Given the description of an element on the screen output the (x, y) to click on. 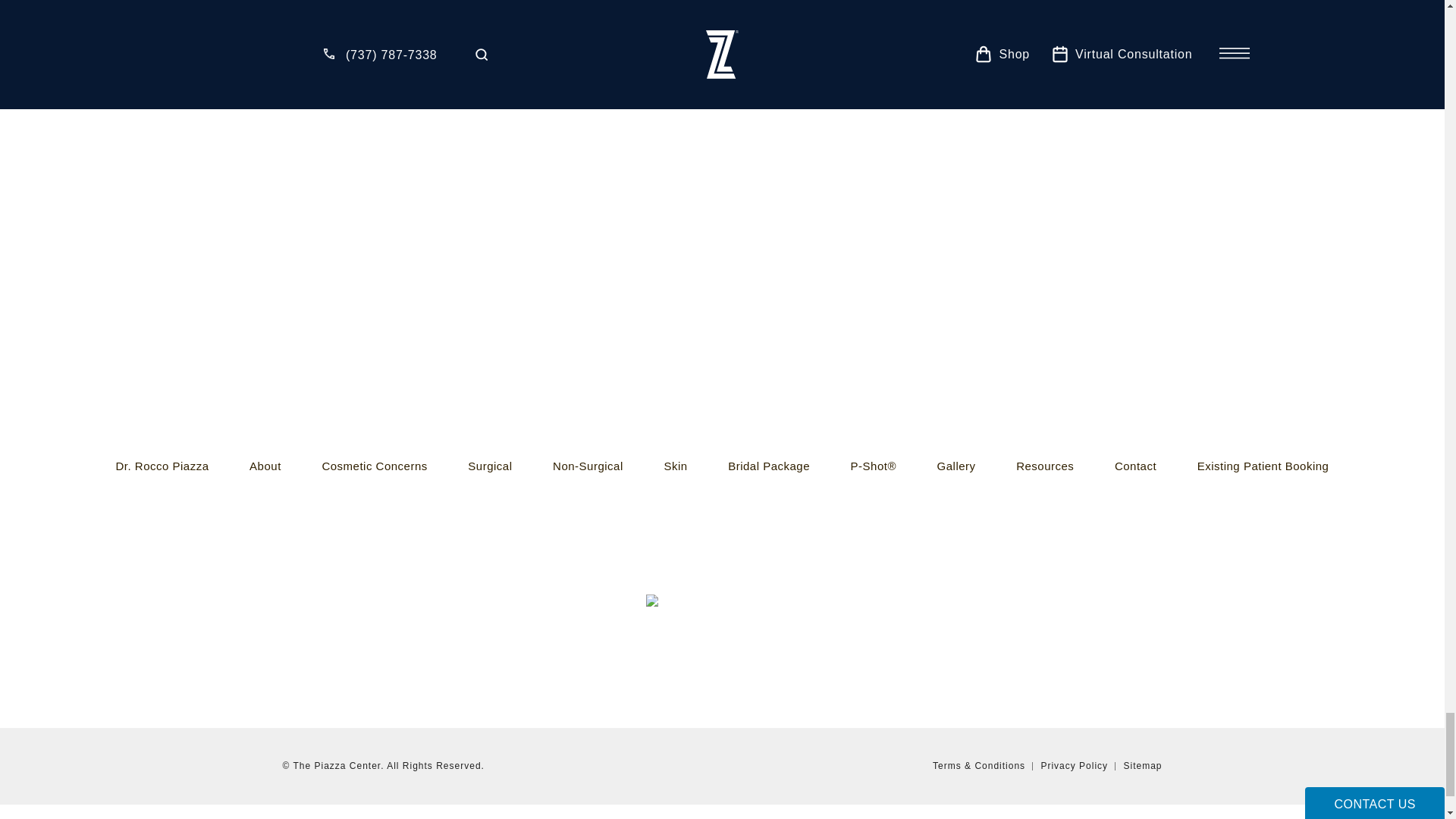
The Piazza Center on Facebook (188, 638)
The Piazza Center on Tiktok (157, 638)
The Piazza Center on Instagram (128, 638)
